Given the description of an element on the screen output the (x, y) to click on. 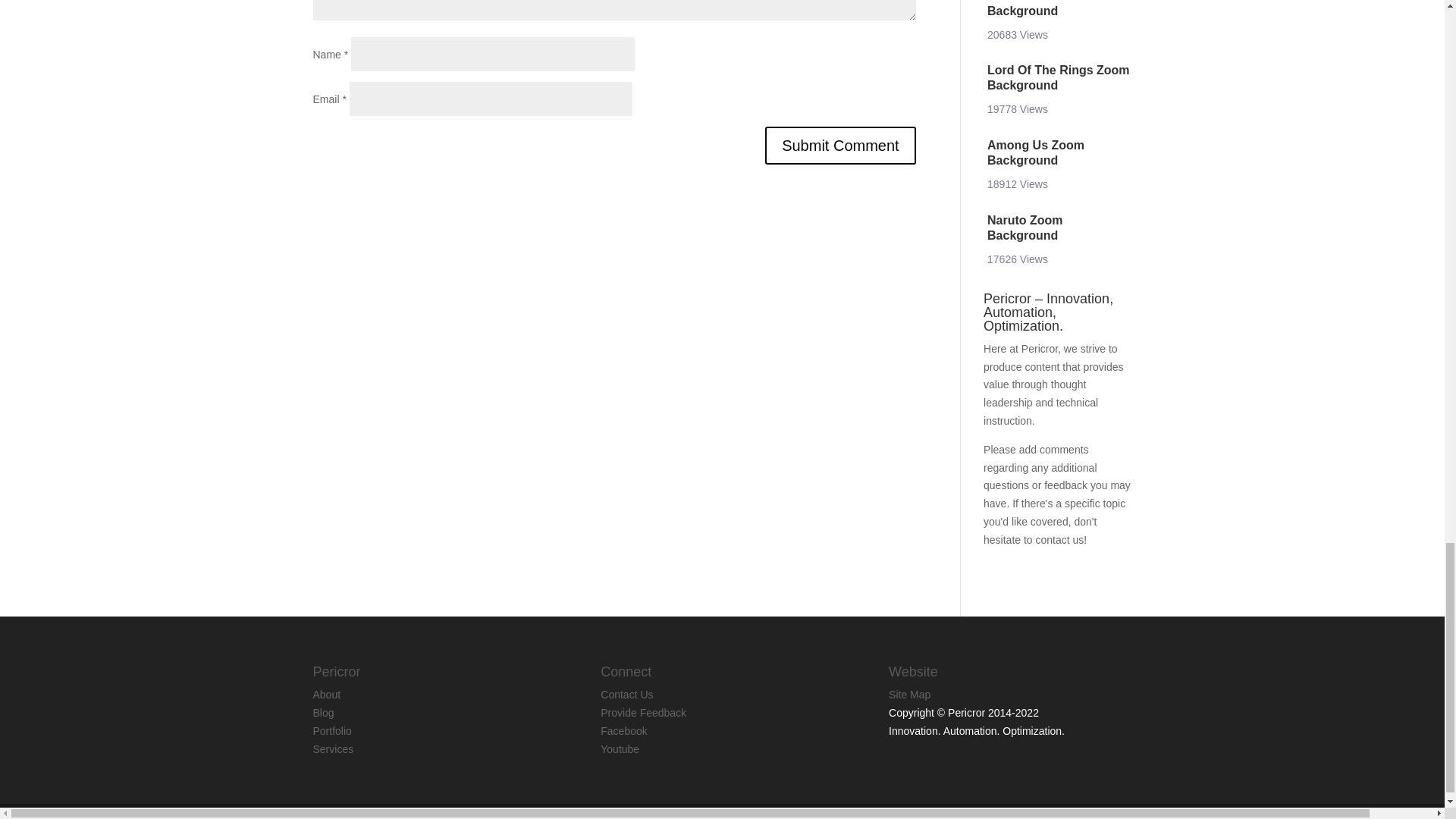
Submit Comment (840, 145)
